Given the description of an element on the screen output the (x, y) to click on. 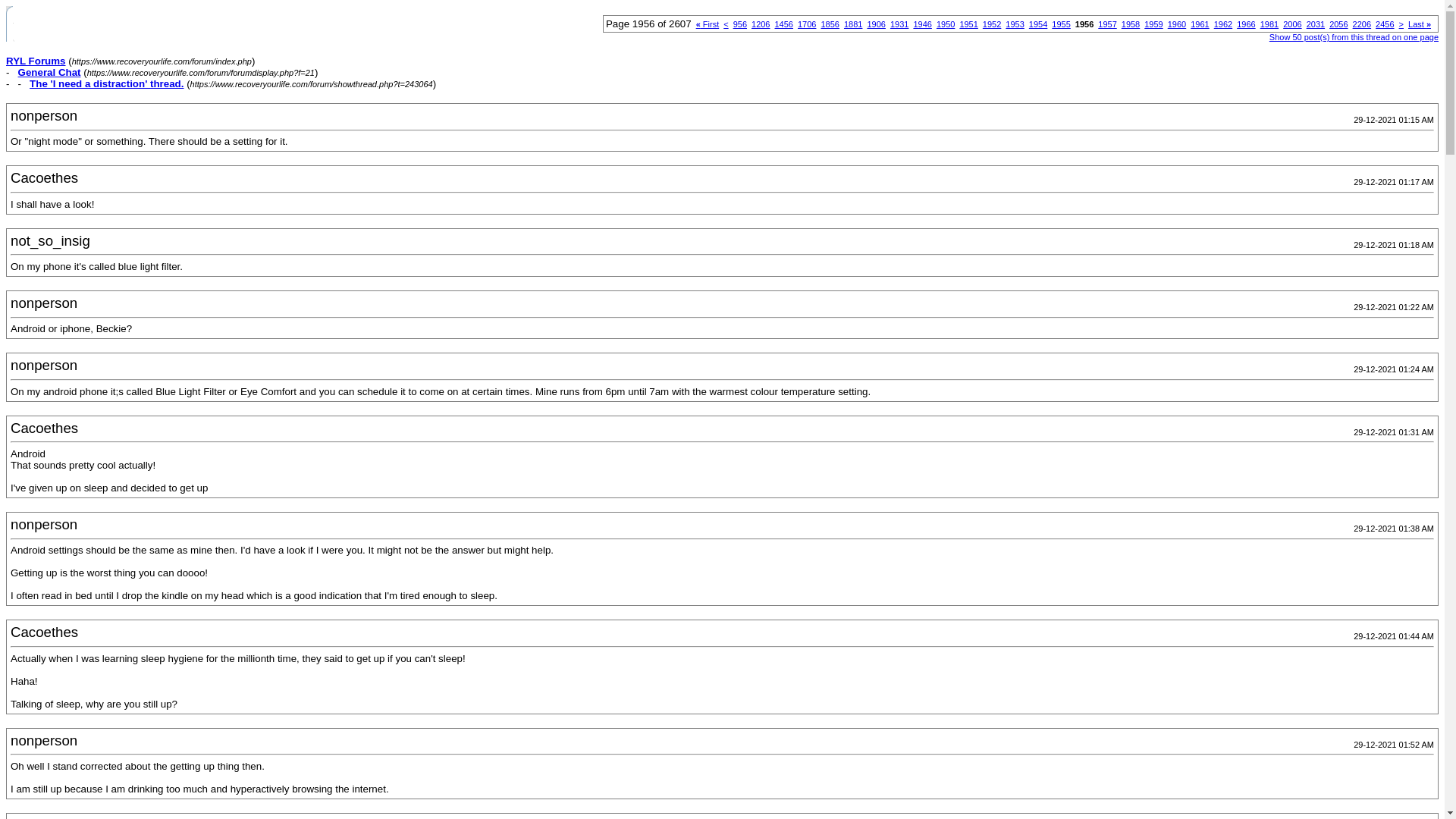
1856 (829, 23)
1958 (1130, 23)
1954 (1037, 23)
The 'I need a distraction' thread. (106, 83)
Show results 97,551 to 97,600 of 130,318 (991, 23)
Show results 95,251 to 95,300 of 130,318 (875, 23)
General Chat (49, 71)
Showing results 97,751 to 97,800 of 130,318 (1084, 23)
2456 (1384, 23)
956 (739, 23)
Show results 60,251 to 60,300 of 130,318 (760, 23)
1957 (1106, 23)
Show results 97,801 to 97,850 of 130,318 (1106, 23)
1953 (1014, 23)
1966 (1245, 23)
